Given the description of an element on the screen output the (x, y) to click on. 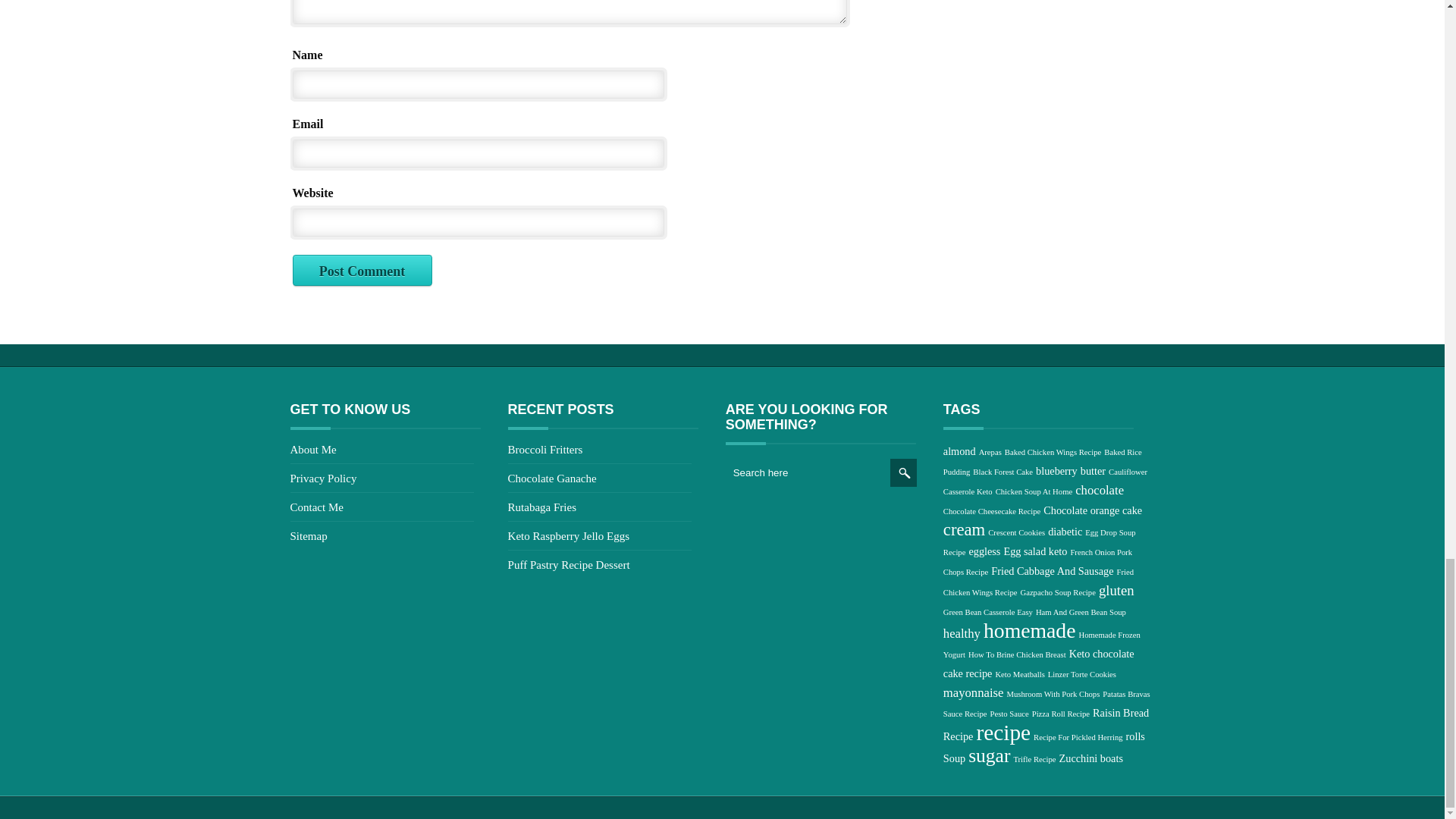
About Me (312, 449)
SEARCH (903, 472)
Search here (808, 472)
Post Comment (362, 270)
Post Comment (362, 270)
